Given the description of an element on the screen output the (x, y) to click on. 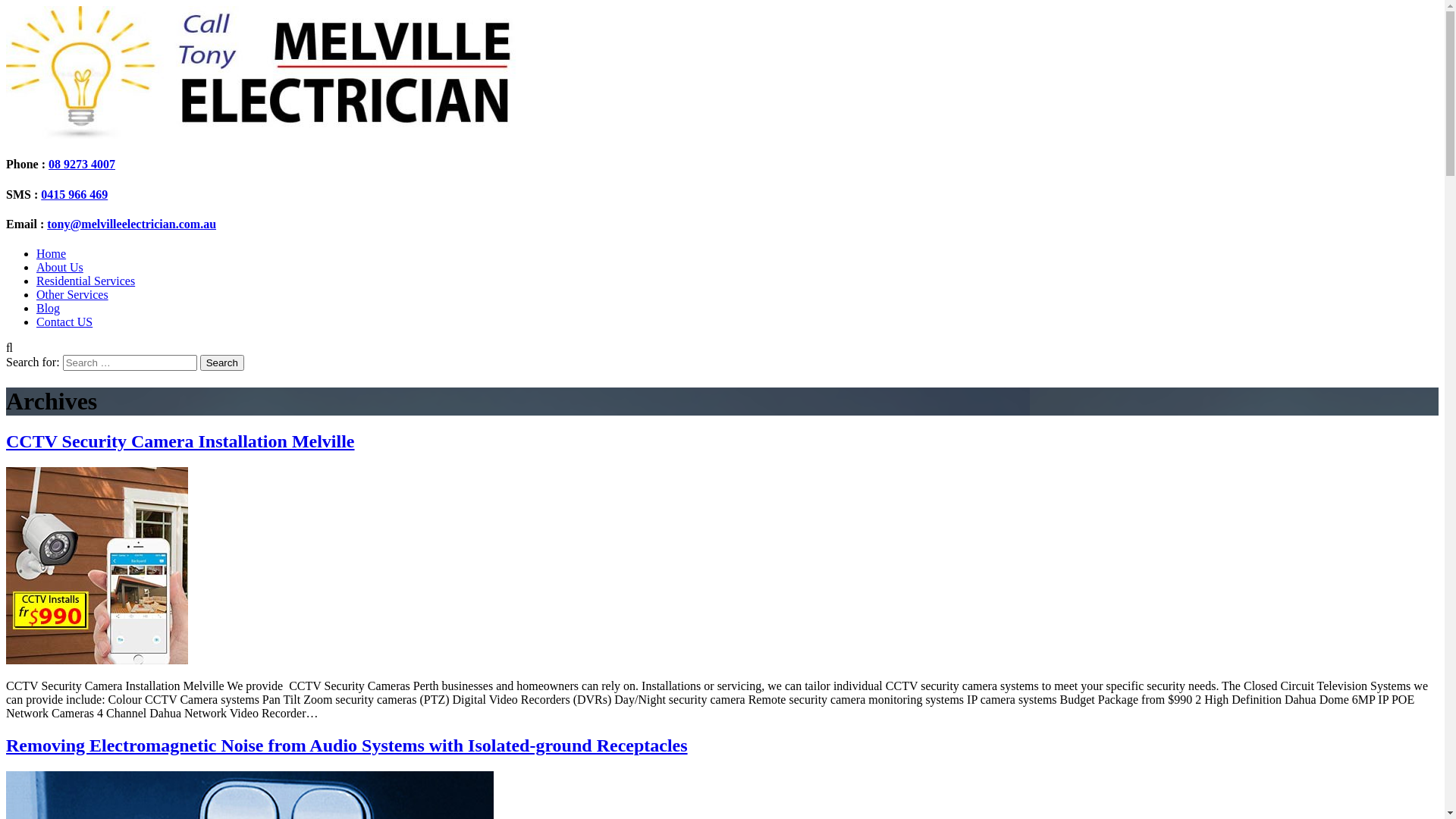
CCTV Security Camera Installation Melville Element type: text (180, 441)
tony@melvilleelectrician.com.au Element type: text (131, 223)
08 9273 4007 Element type: text (81, 163)
Home Element type: text (50, 253)
0415 966 469 Element type: text (73, 194)
Contact US Element type: text (64, 321)
Other Services Element type: text (72, 294)
Residential Services Element type: text (85, 280)
About Us Element type: text (59, 266)
Blog Element type: text (47, 307)
Search Element type: text (222, 362)
